Given the description of an element on the screen output the (x, y) to click on. 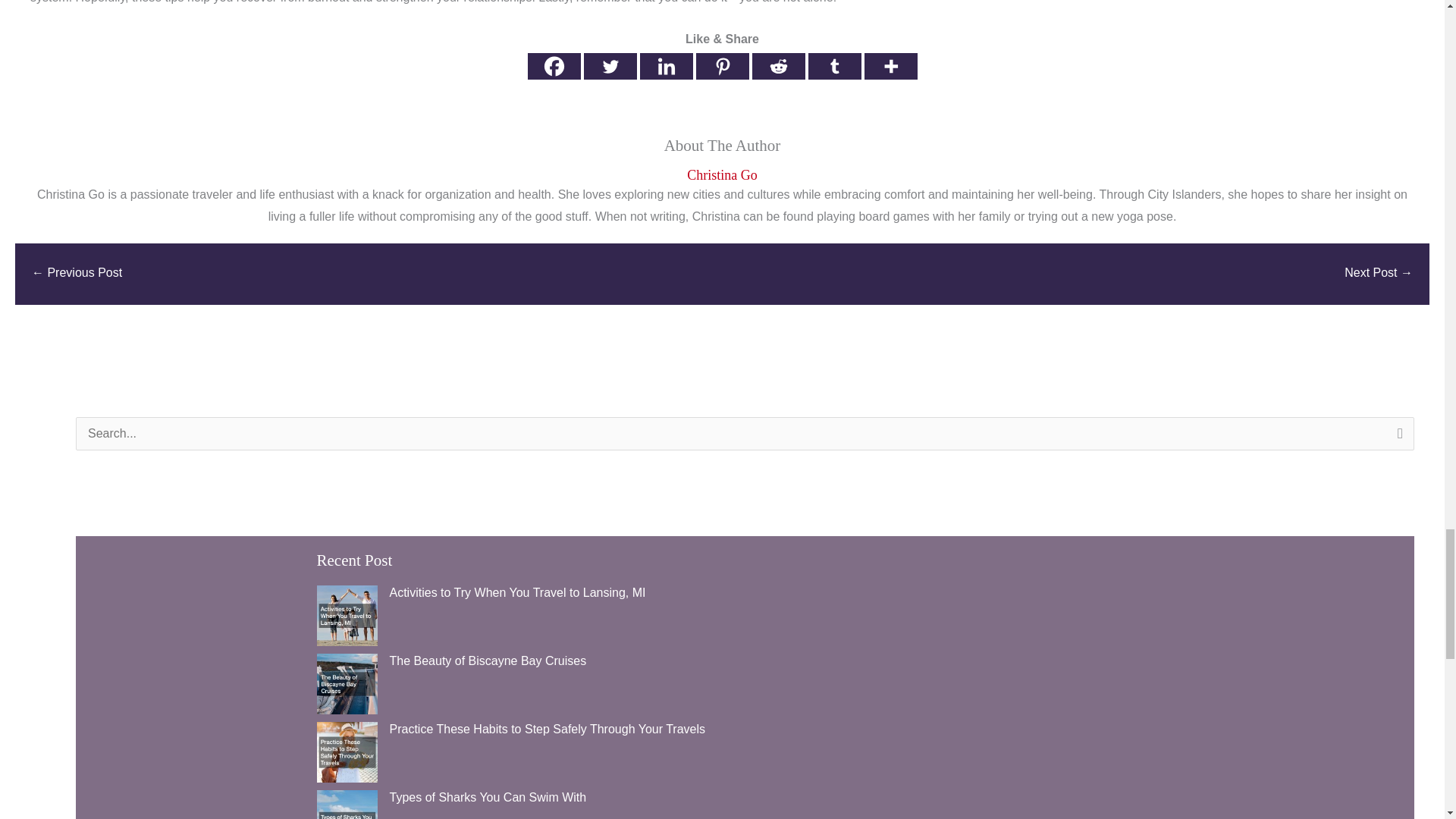
Types of Sharks You Can Swim With (488, 797)
How to Know If It's Time to Invest in a Home (77, 274)
Tumblr (834, 66)
Linkedin (666, 66)
Facebook (553, 66)
Twitter (610, 66)
Practice These Habits to Step Safely Through Your Travels (548, 728)
Christina Go (721, 175)
More (890, 66)
Pinterest (722, 66)
